Given the description of an element on the screen output the (x, y) to click on. 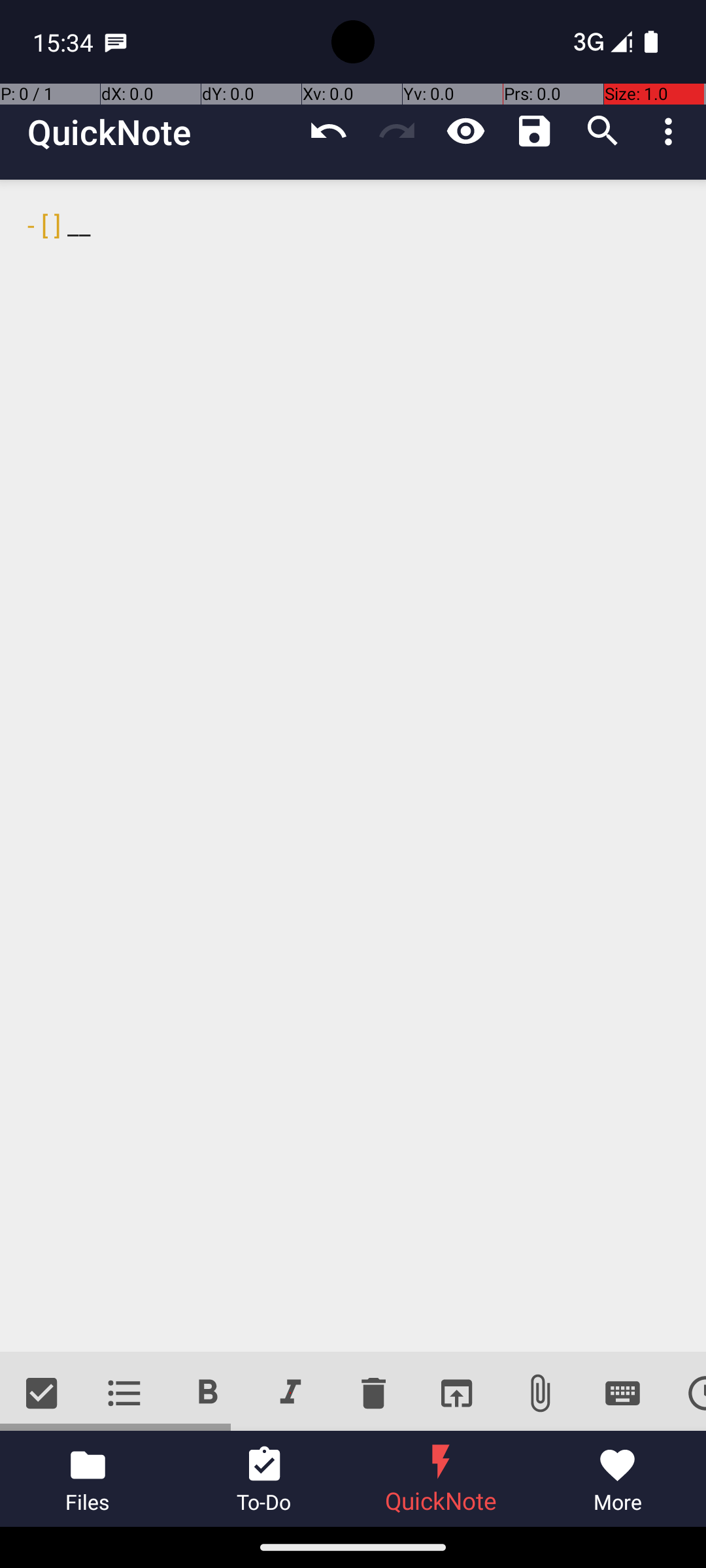
- [ ] __ Element type: android.widget.EditText (353, 765)
